Given the description of an element on the screen output the (x, y) to click on. 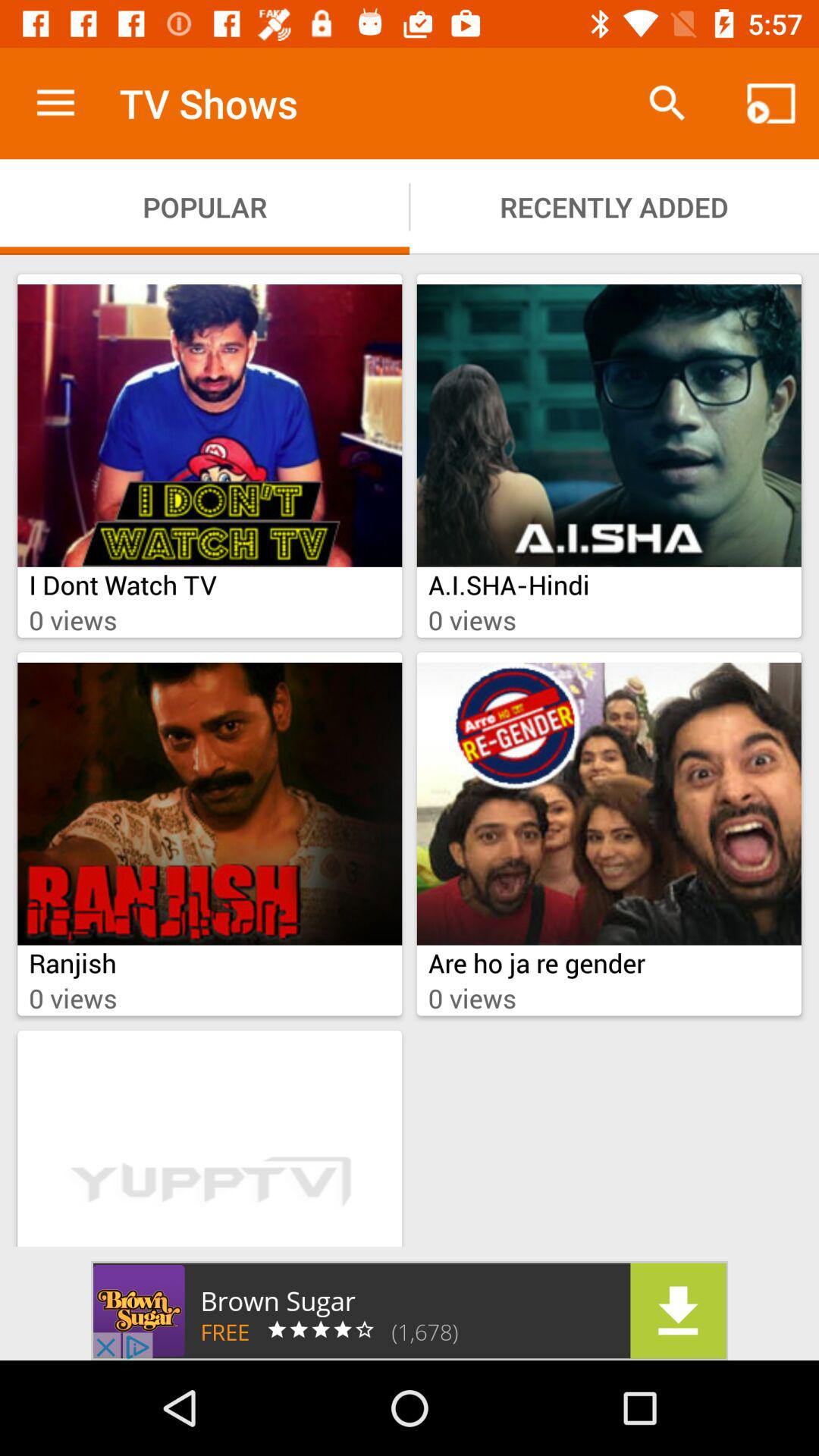
select the add image (409, 1310)
